Given the description of an element on the screen output the (x, y) to click on. 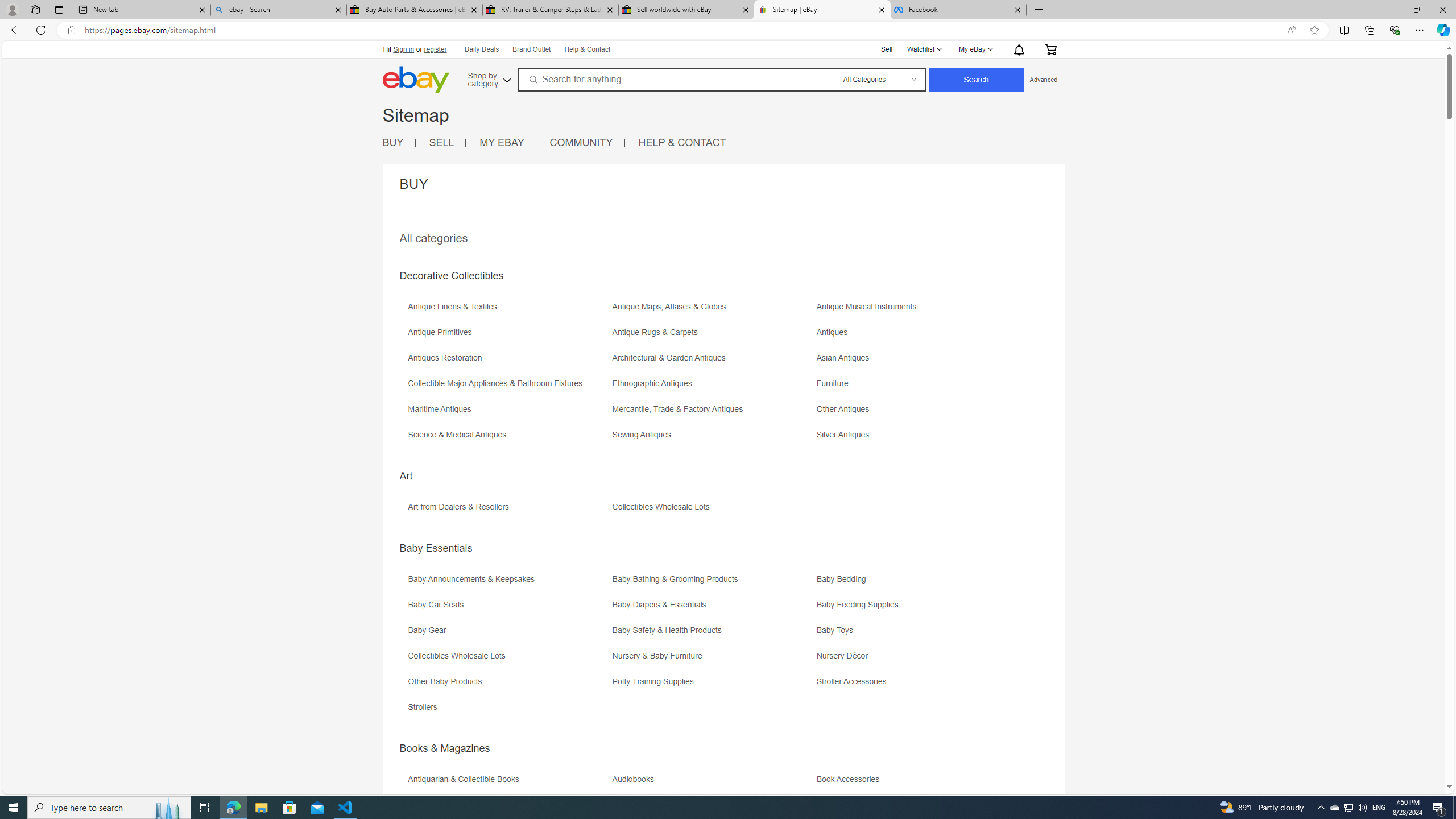
Baby Bathing & Grooming Products (677, 579)
Sell worldwide with eBay (685, 9)
Personal Profile (12, 9)
Antique Primitives (508, 336)
Antique Maps, Atlases & Globes (712, 310)
Furniture (835, 383)
Ethnographic Antiques (712, 387)
Baby Announcements & Keepsakes (508, 582)
Expand Cart (1049, 49)
Browser essentials (1394, 29)
Asian Antiques (845, 357)
Antique Musical Instruments (869, 306)
Other Antiques (845, 408)
Book Accessories (917, 783)
RV, Trailer & Camper Steps & Ladders for sale | eBay (550, 9)
